Given the description of an element on the screen output the (x, y) to click on. 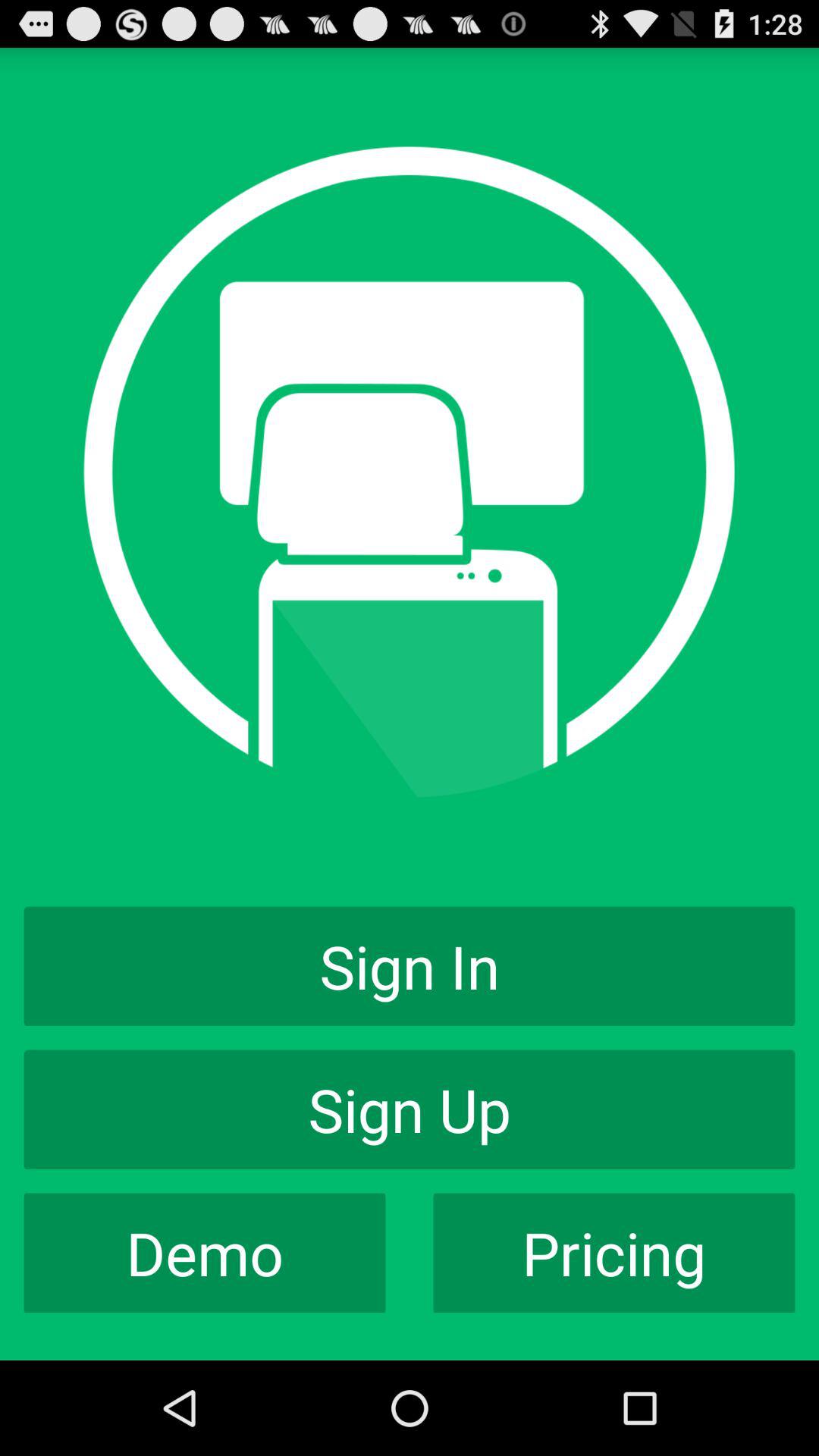
turn off app to the left of the pricing (204, 1252)
